Given the description of an element on the screen output the (x, y) to click on. 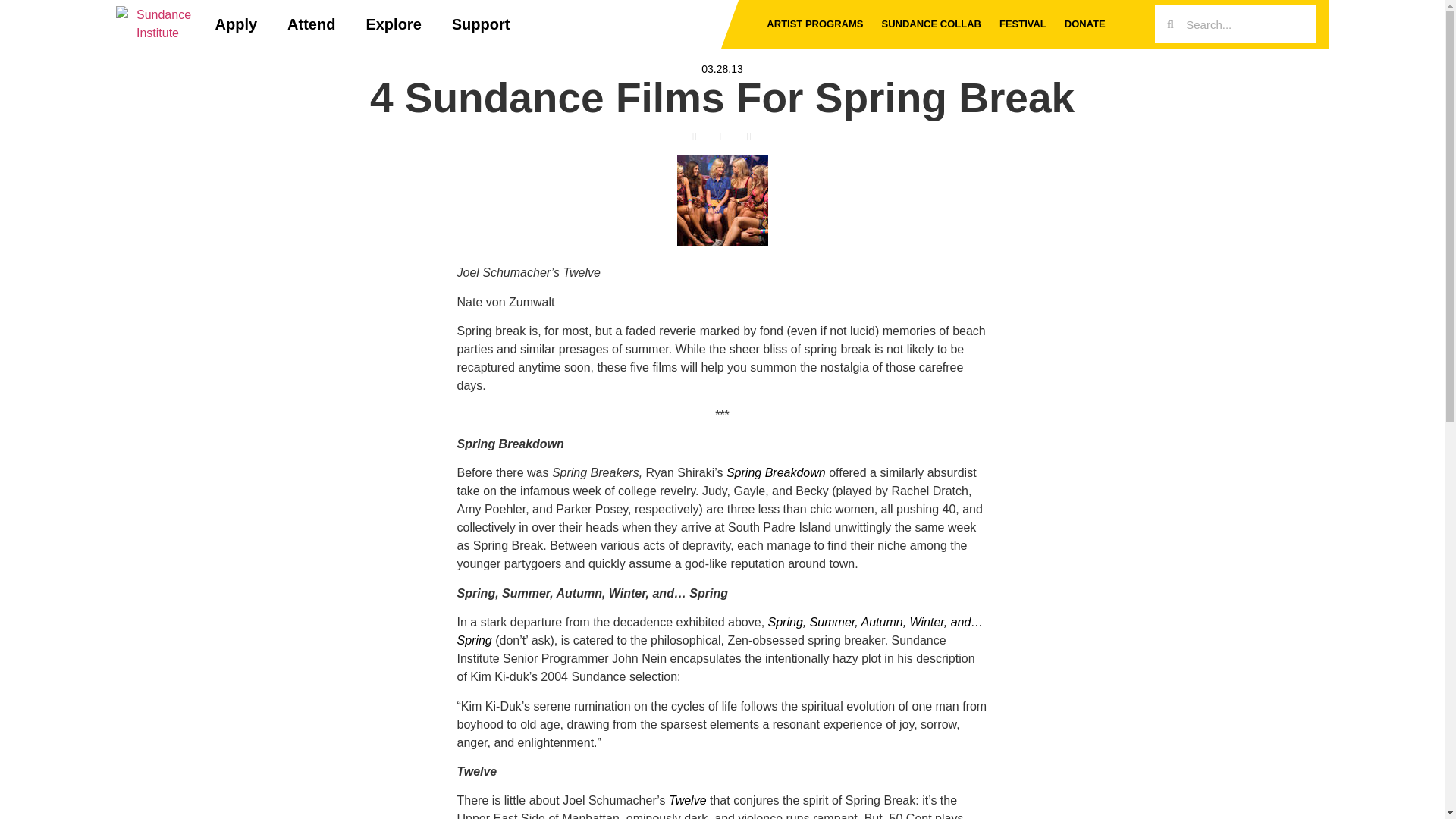
Attend (311, 24)
Apply (236, 24)
Explore (392, 24)
Support (480, 24)
